Given the description of an element on the screen output the (x, y) to click on. 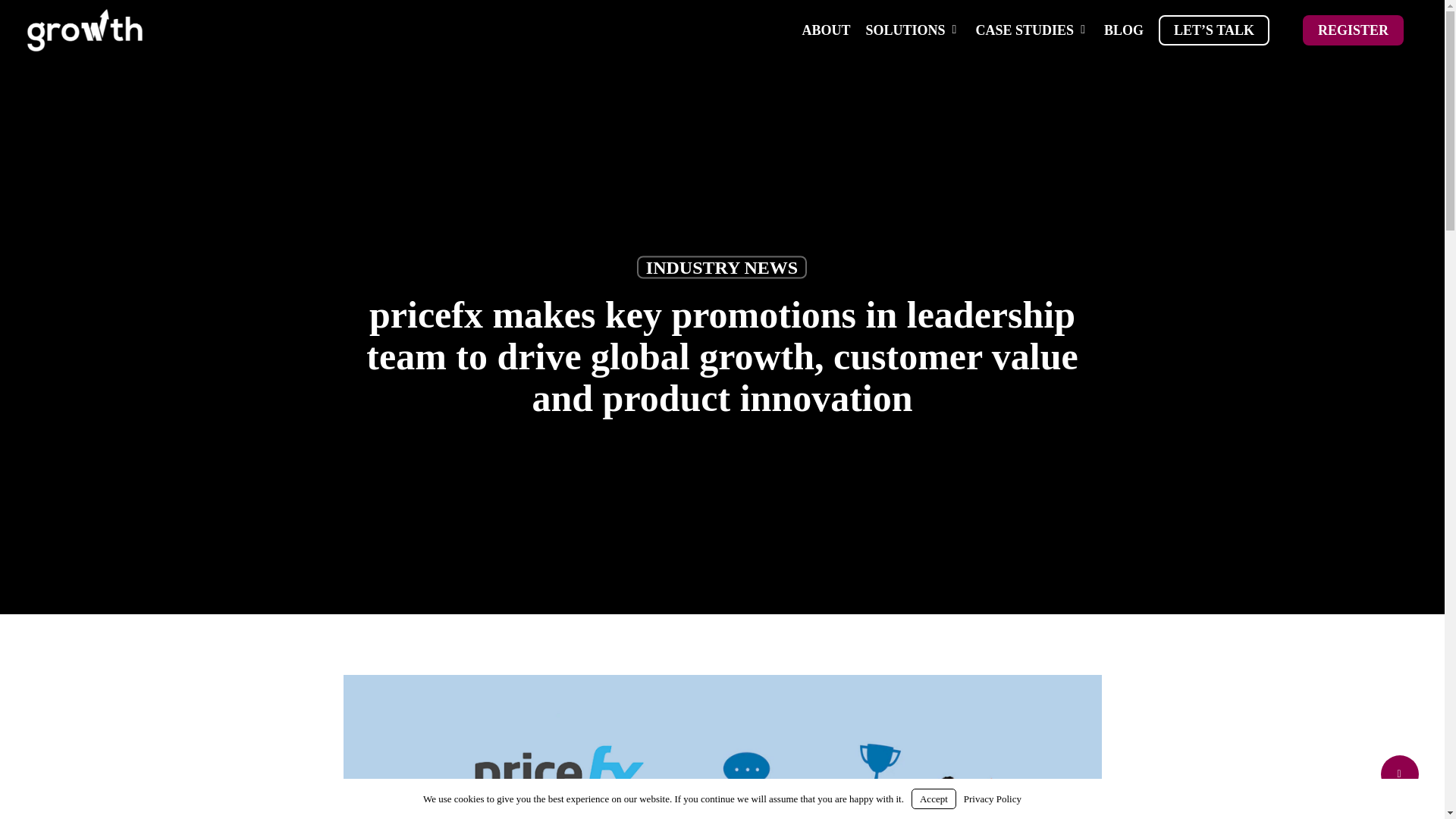
BLOG (1123, 29)
REGISTER (1353, 29)
CASE STUDIES (1032, 30)
SOLUTIONS (912, 30)
ABOUT (825, 29)
INDUSTRY NEWS (721, 267)
